Given the description of an element on the screen output the (x, y) to click on. 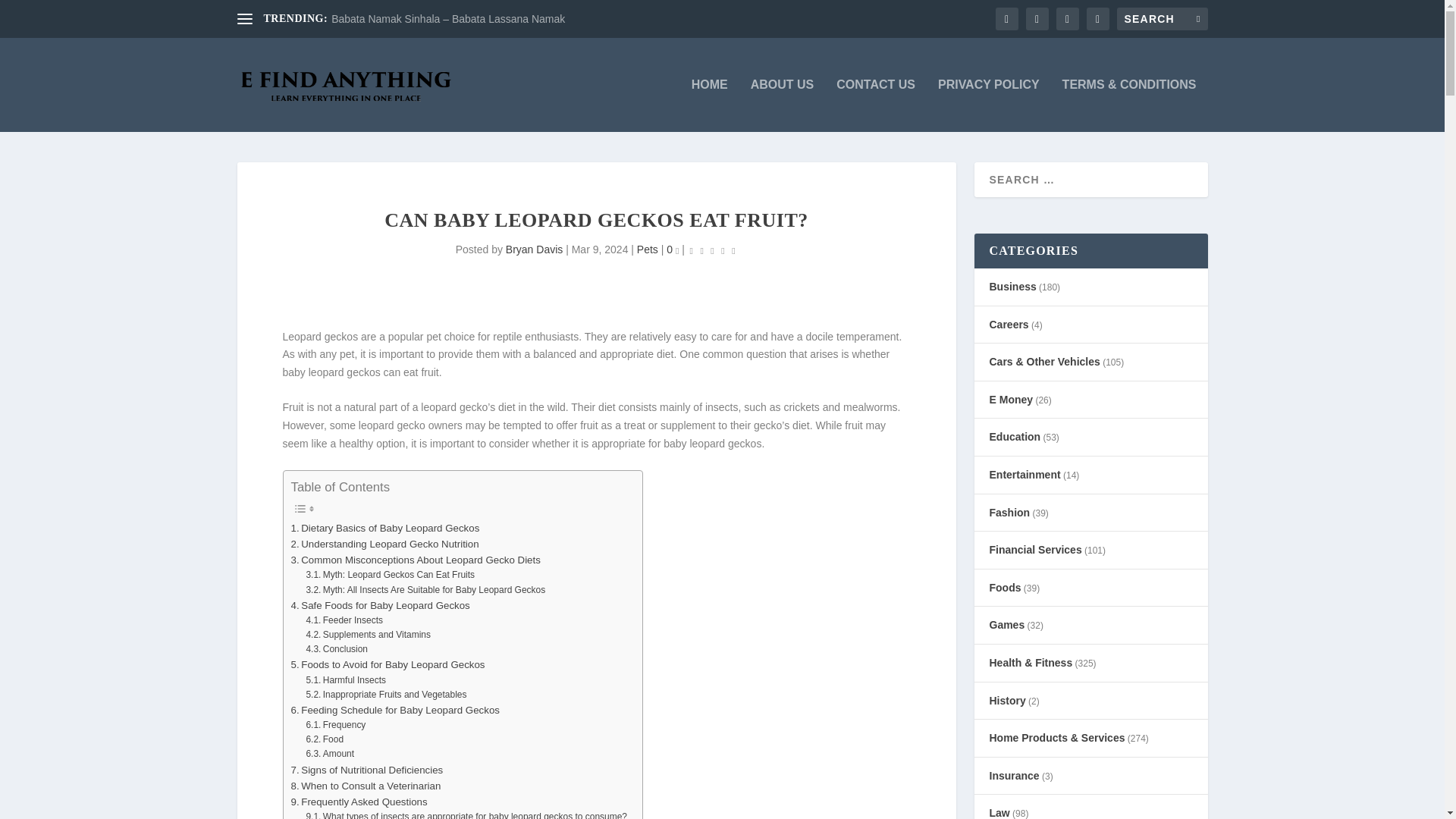
Common Misconceptions About Leopard Gecko Diets (415, 560)
Dietary Basics of Baby Leopard Geckos (385, 528)
Myth: Leopard Geckos Can Eat Fruits (389, 575)
Dietary Basics of Baby Leopard Geckos (385, 528)
0 (672, 249)
Foods to Avoid for Baby Leopard Geckos (387, 664)
Rating: 0.00 (712, 250)
PRIVACY POLICY (988, 104)
Myth: All Insects Are Suitable for Baby Leopard Geckos (424, 590)
Harmful Insects (345, 680)
Search for: (1161, 18)
Supplements and Vitamins (367, 635)
Conclusion (336, 649)
CONTACT US (875, 104)
Safe Foods for Baby Leopard Geckos (380, 605)
